Given the description of an element on the screen output the (x, y) to click on. 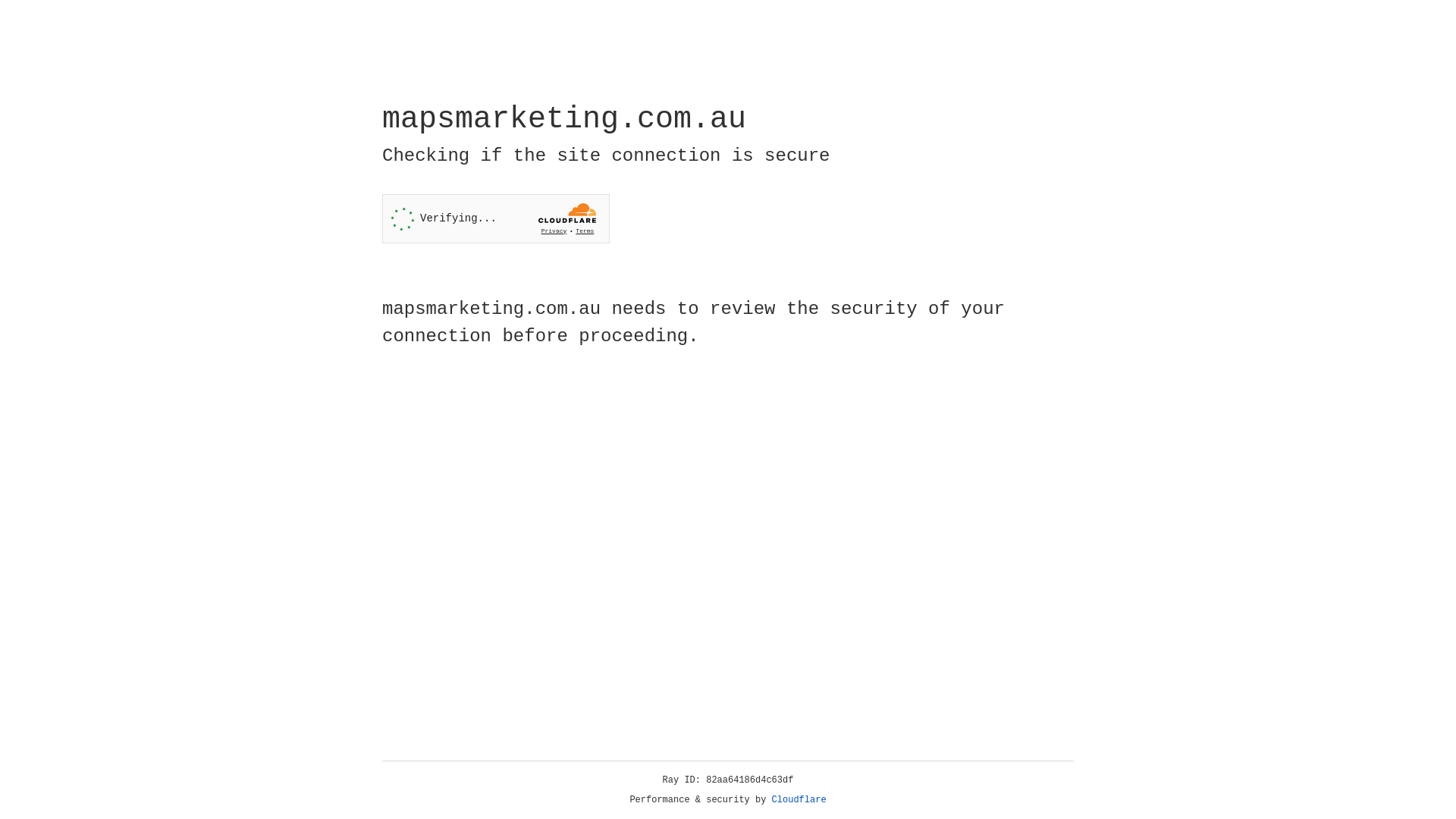
Widget containing a Cloudflare security challenge Element type: hover (495, 218)
Cloudflare Element type: text (798, 799)
